Given the description of an element on the screen output the (x, y) to click on. 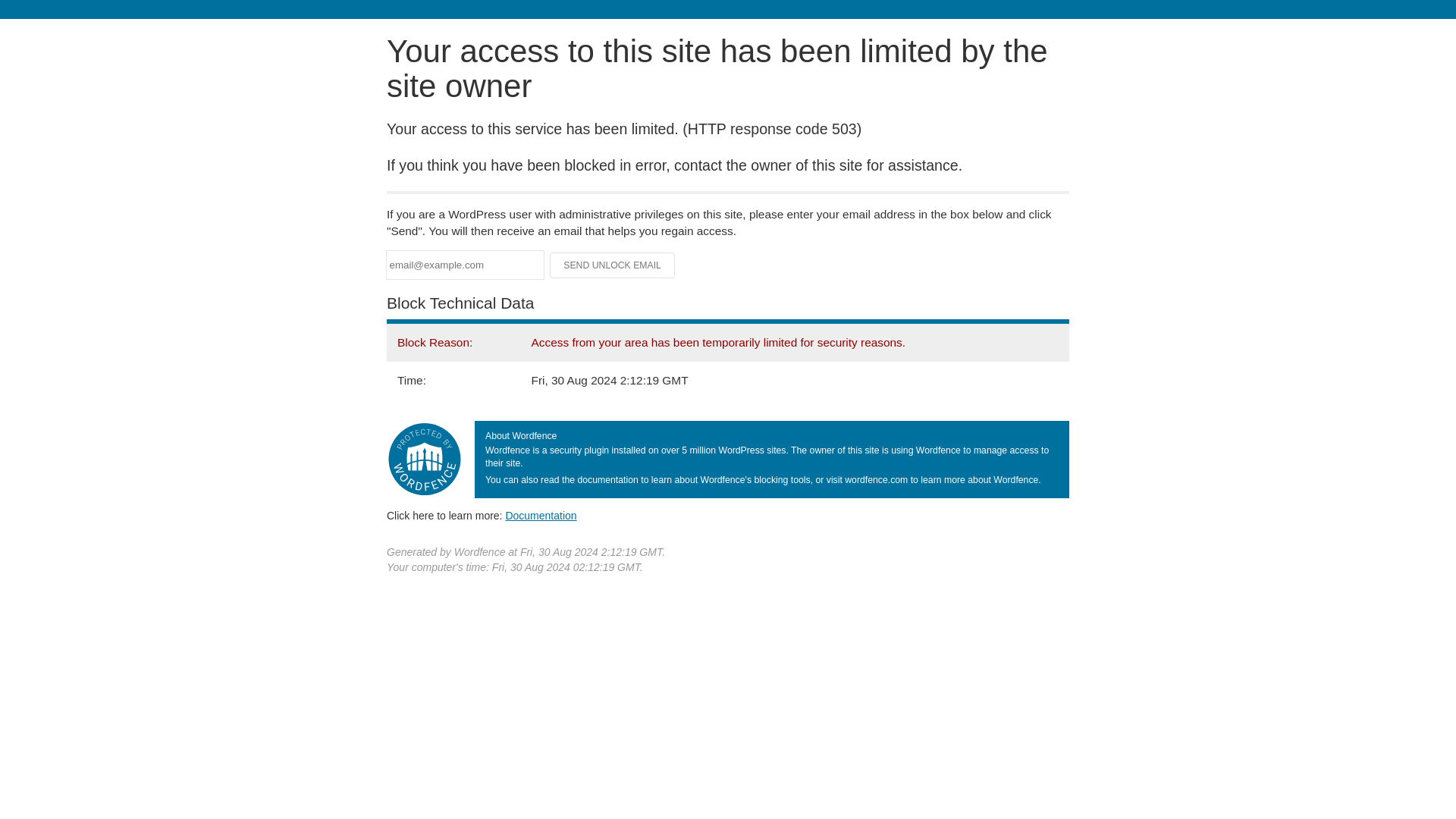
Send Unlock Email (612, 265)
Send Unlock Email (612, 265)
Documentation (540, 515)
